Given the description of an element on the screen output the (x, y) to click on. 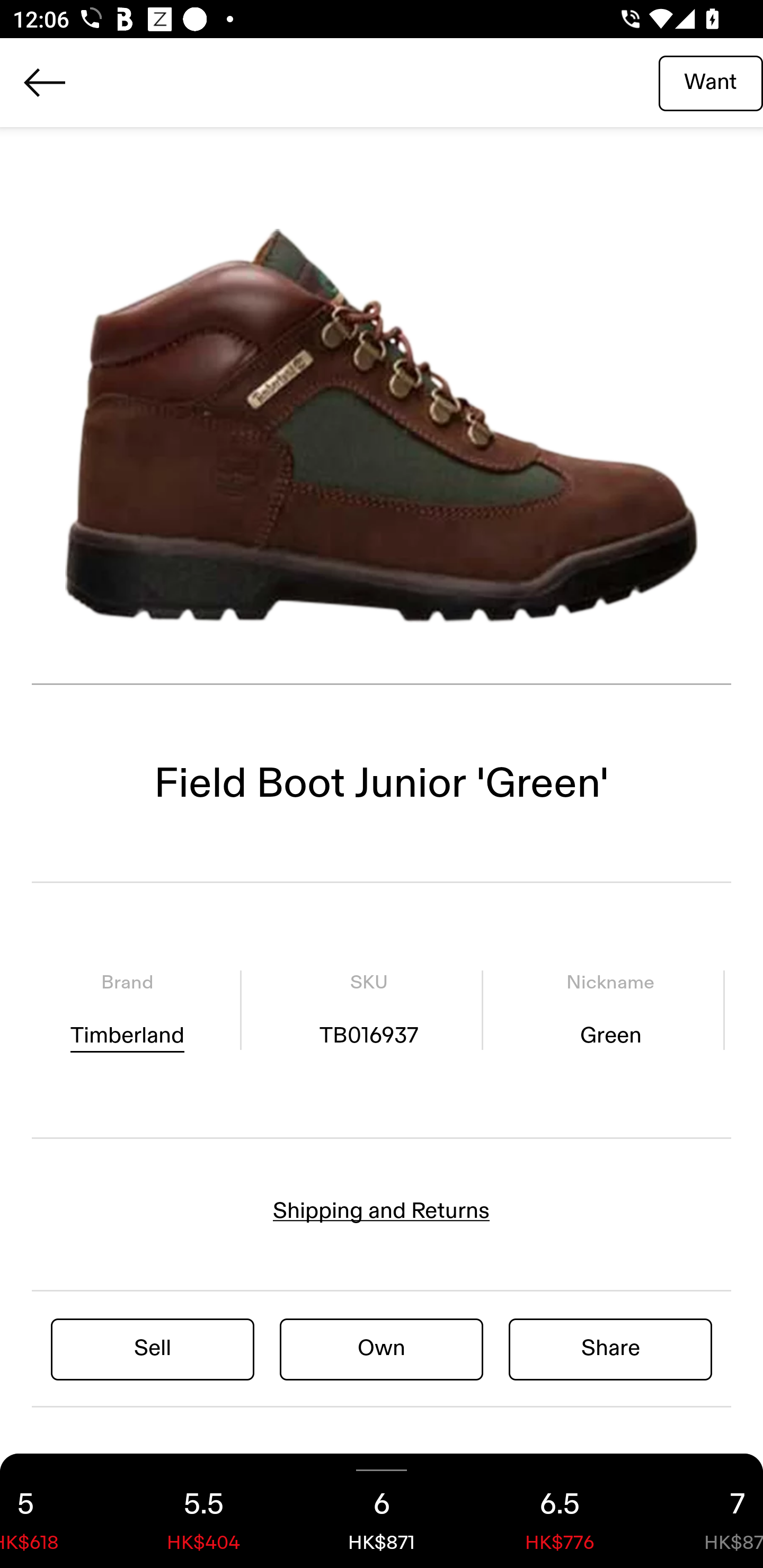
Want (710, 82)
Brand Timberland (126, 1009)
SKU TB016937 (368, 1009)
Nickname Green (609, 1009)
Shipping and Returns (381, 1211)
Sell (152, 1348)
Own (381, 1348)
Share (609, 1348)
5 HK$618 (57, 1510)
5.5 HK$404 (203, 1510)
6 HK$871 (381, 1510)
6.5 HK$776 (559, 1510)
7 HK$871 (705, 1510)
